Given the description of an element on the screen output the (x, y) to click on. 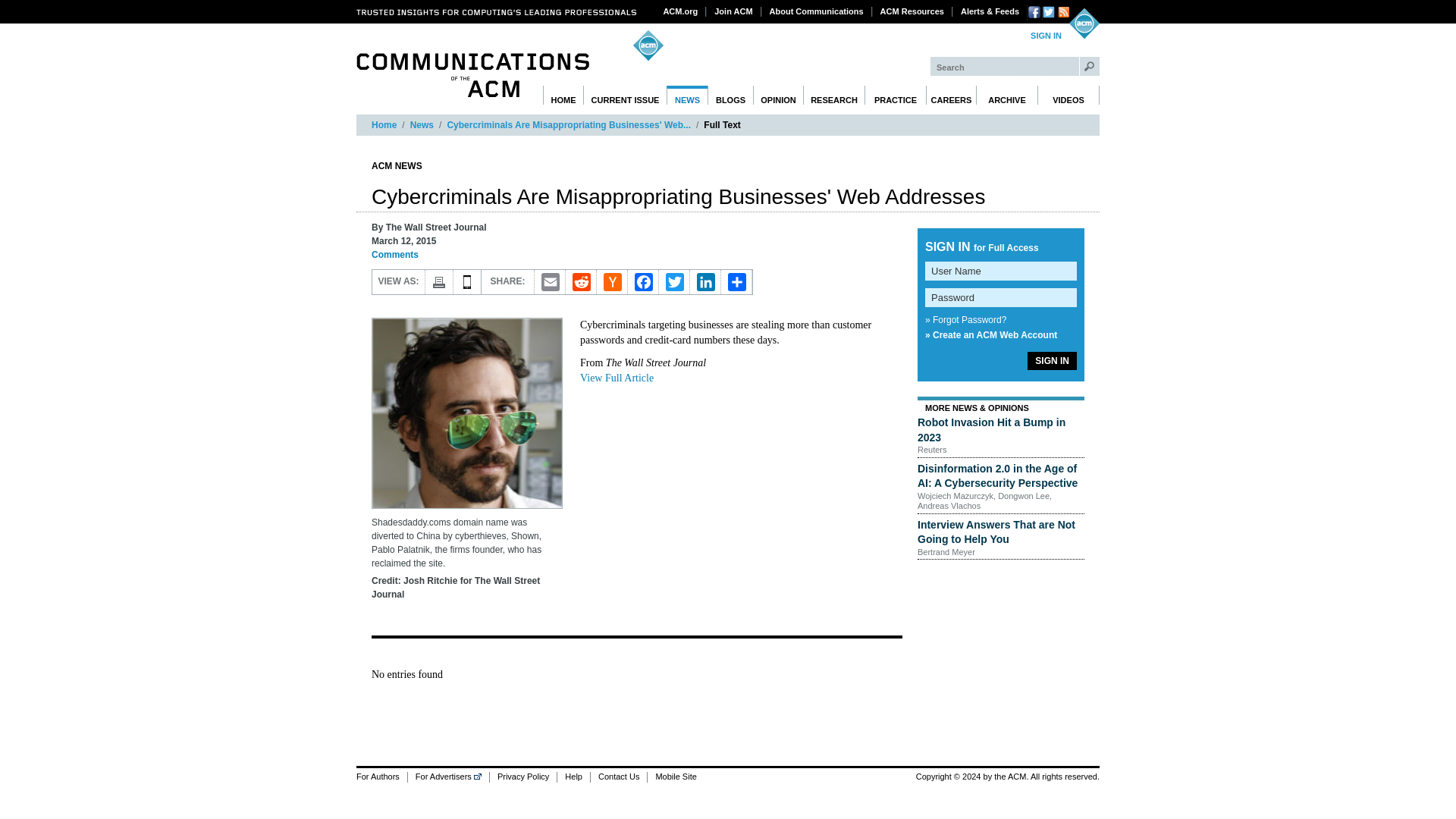
CURRENT ISSUE (624, 94)
NEWS (686, 94)
Login (1045, 35)
ACM Resources (912, 11)
Privacy Policy (522, 777)
BLOGS (730, 94)
RESEARCH (833, 94)
ACM (1083, 23)
ACM (1083, 23)
Print (438, 282)
